Given the description of an element on the screen output the (x, y) to click on. 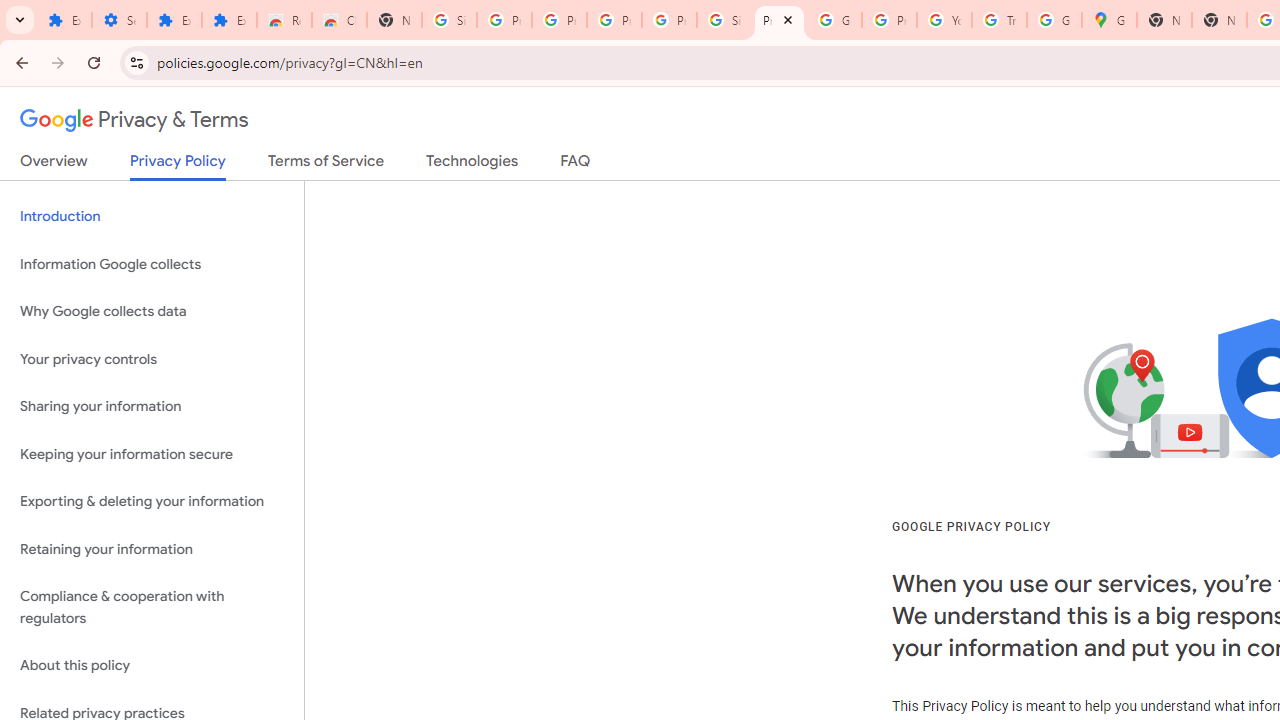
Extensions (174, 20)
Reviews: Helix Fruit Jump Arcade Game (284, 20)
About this policy (152, 666)
Extensions (229, 20)
Why Google collects data (152, 312)
Keeping your information secure (152, 453)
